Given the description of an element on the screen output the (x, y) to click on. 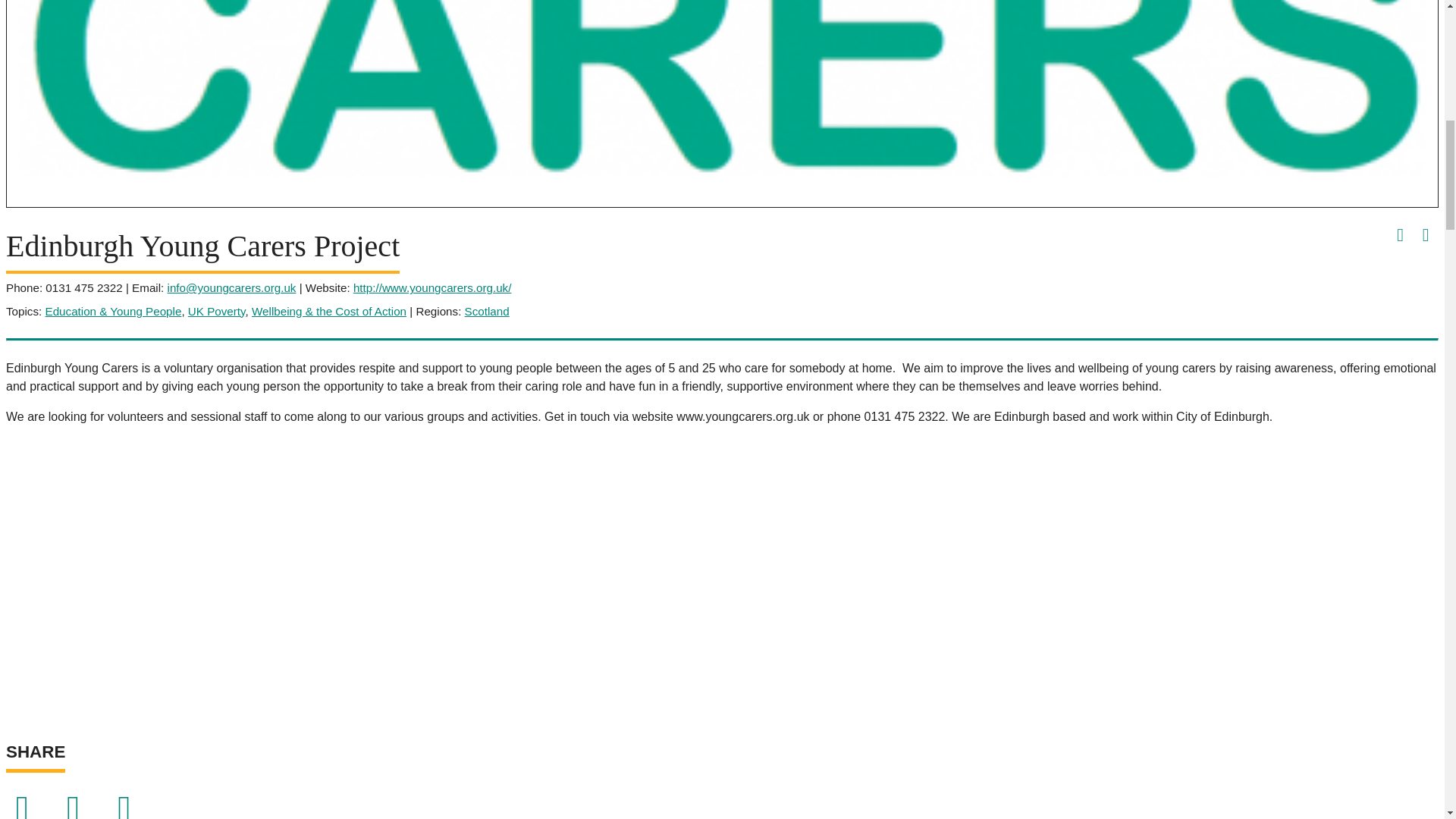
Share by Email (132, 814)
EYCP Dance Video (248, 574)
Like this Page on Facebook (30, 814)
Expore more films focused on Scotland (486, 310)
UK Poverty (216, 310)
More in the topic UK Poverty (216, 310)
Tweet This Page (81, 814)
Share by email (132, 814)
Scotland (486, 310)
Edinburgh Young Carers Project on Facebook (1400, 234)
